Given the description of an element on the screen output the (x, y) to click on. 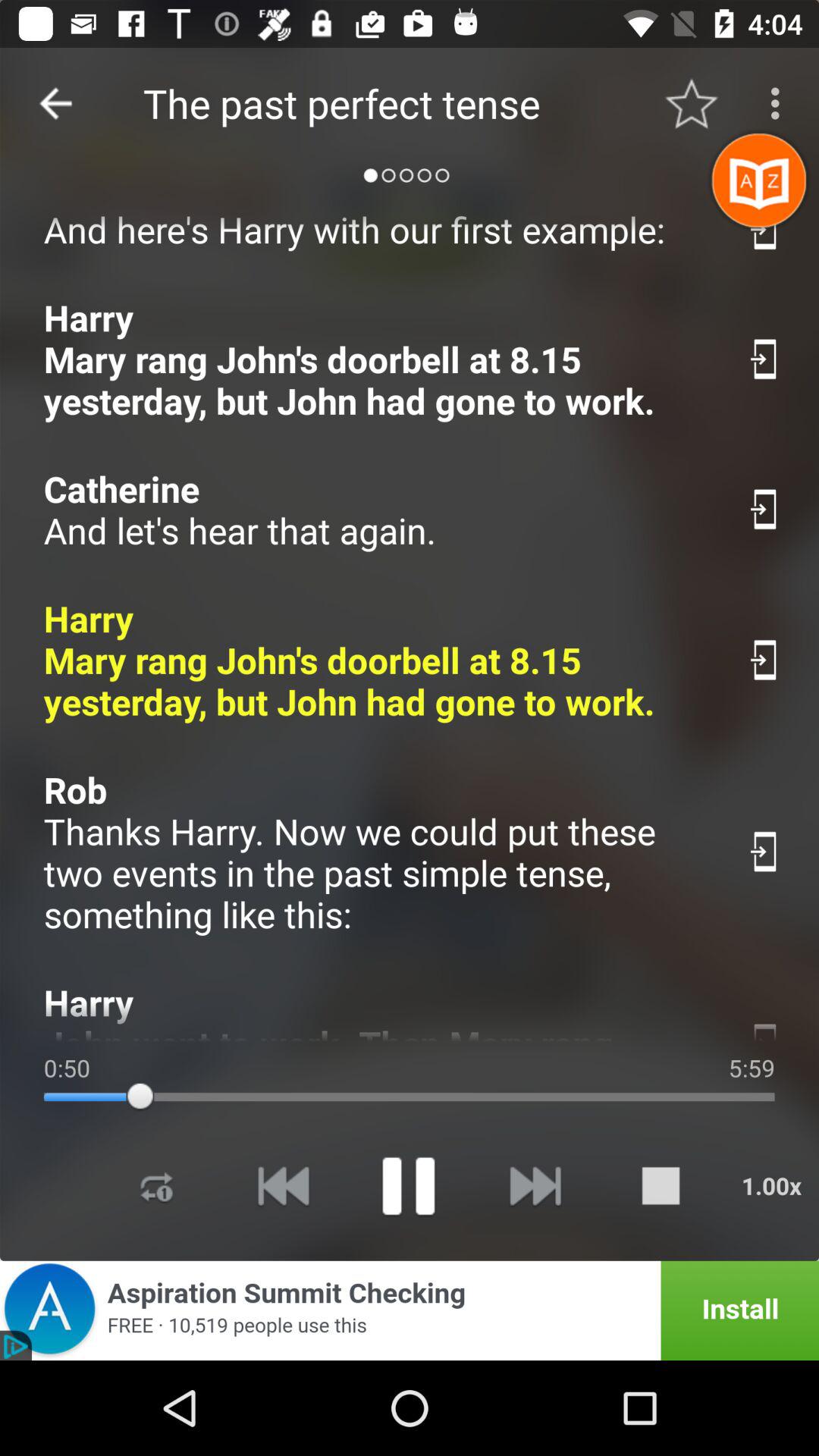
swipe until the catherine and let (379, 509)
